Given the description of an element on the screen output the (x, y) to click on. 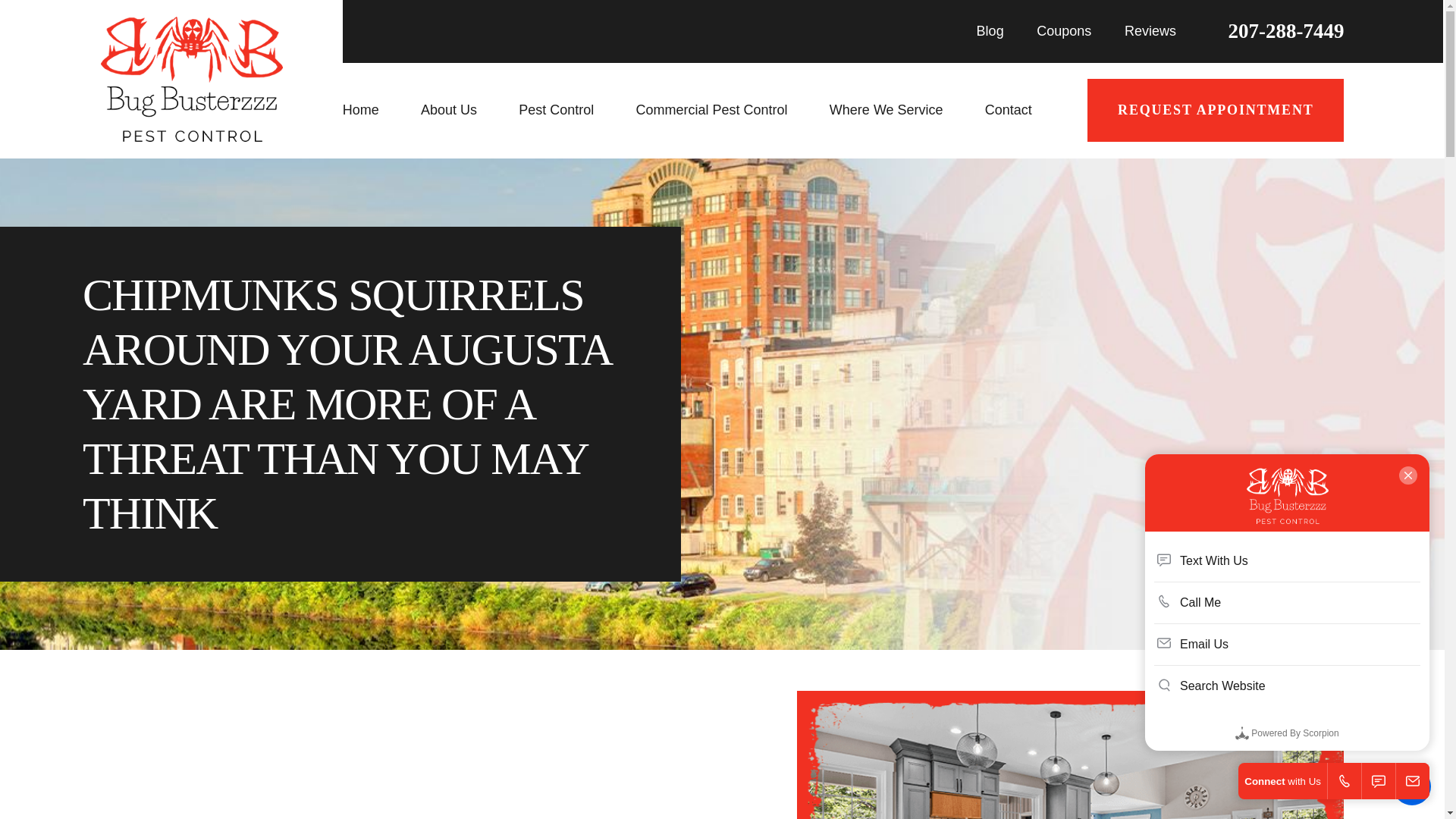
Reviews (1150, 30)
Commercial Pest Control (727, 110)
Home (376, 110)
Where We Service (901, 110)
REQUEST APPOINTMENT (1215, 109)
207-288-7449 (1285, 31)
Coupons (1063, 30)
Pest Control (571, 110)
Bug Busterzzz Pest Control (191, 78)
Blog (990, 30)
Contact (1023, 110)
About Us (464, 110)
Open the accessibility options menu (1412, 786)
